Given the description of an element on the screen output the (x, y) to click on. 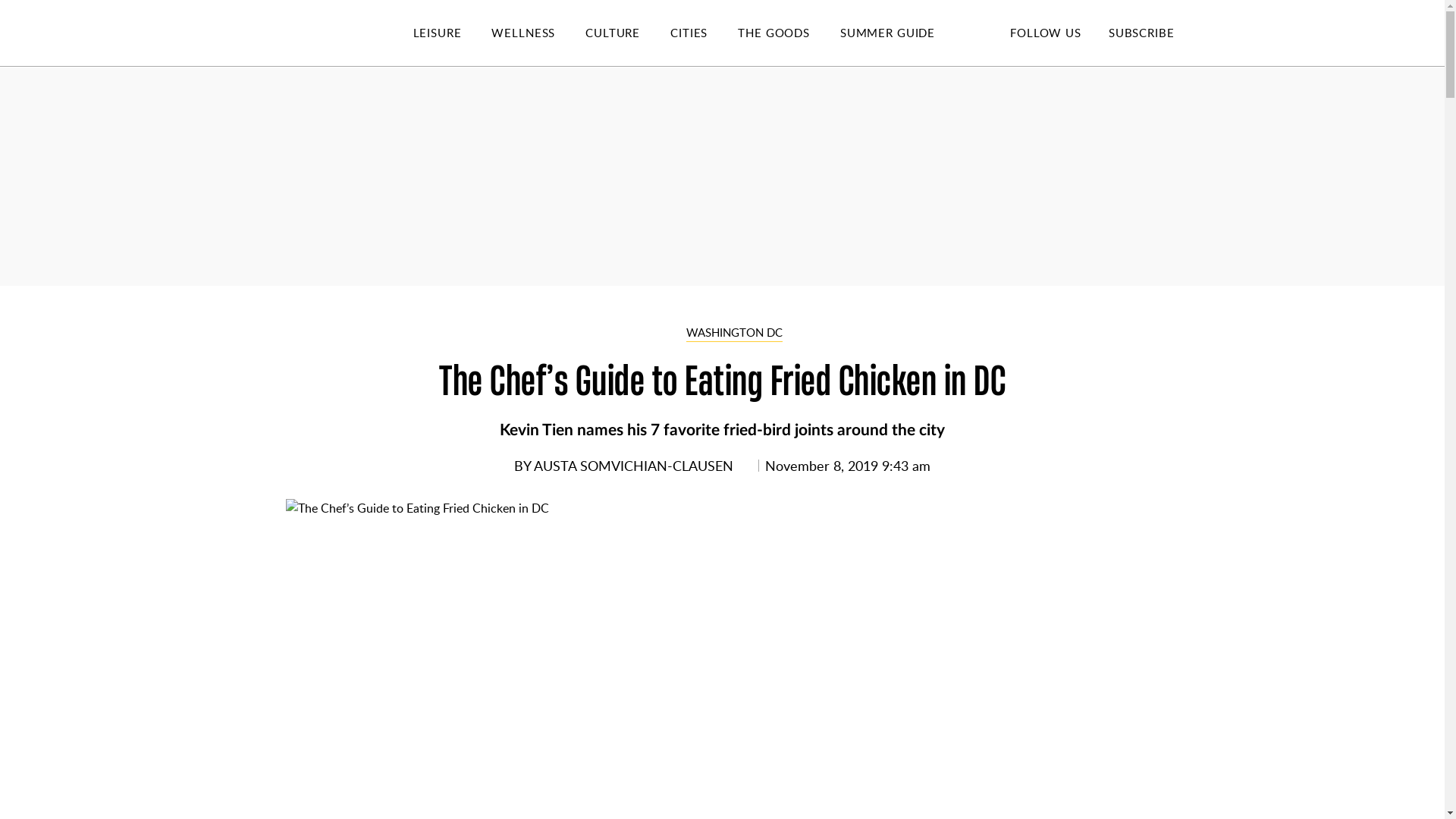
SUMMER GUIDE (902, 32)
FOLLOW US (1045, 32)
CULTURE (627, 32)
WELLNESS (538, 32)
LEISURE (452, 32)
SUBSCRIBE (1141, 31)
THE GOODS (789, 32)
CITIES (703, 32)
